Given the description of an element on the screen output the (x, y) to click on. 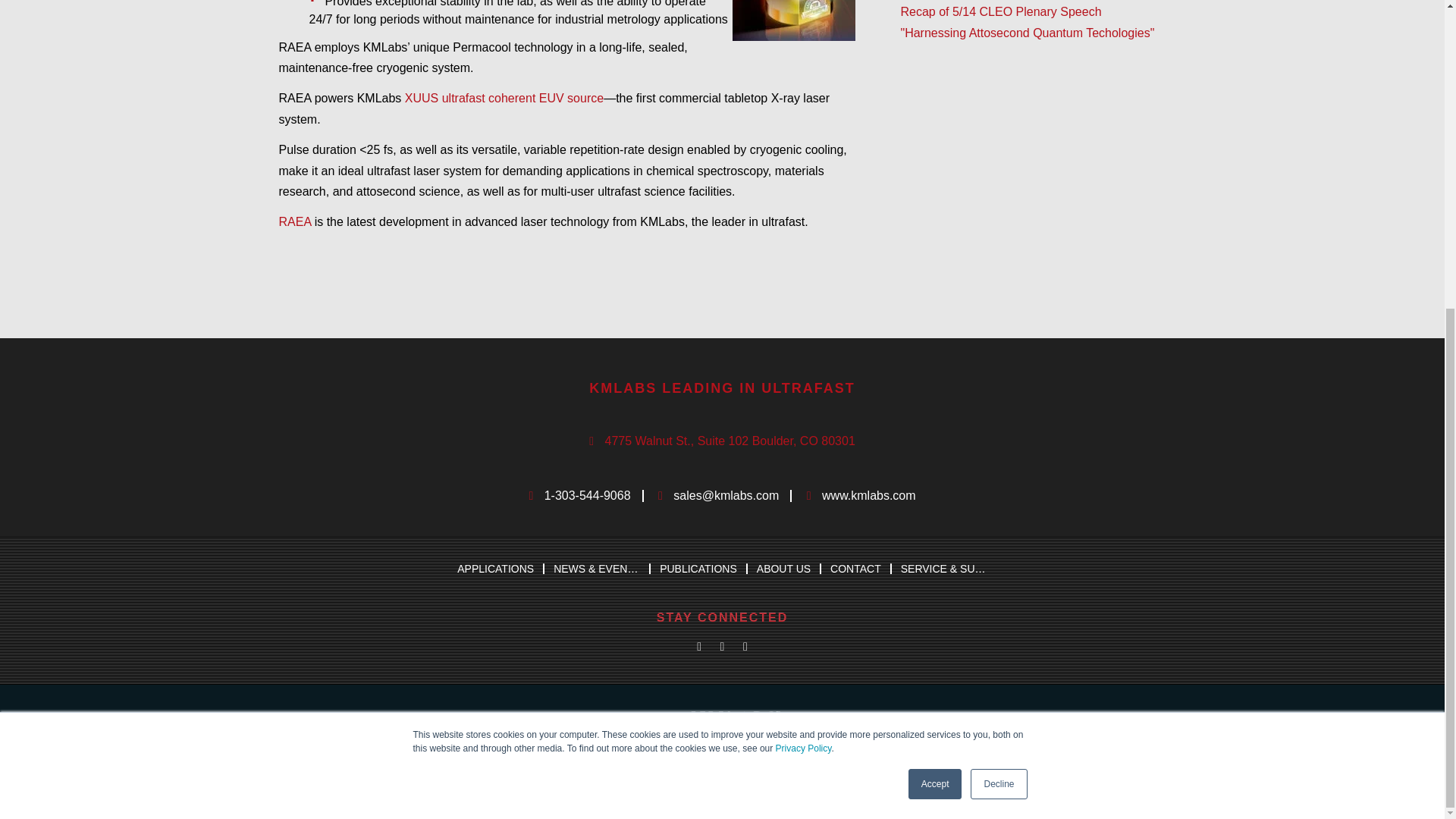
Accept (935, 296)
Decline (998, 296)
Privacy Policy (803, 260)
